Given the description of an element on the screen output the (x, y) to click on. 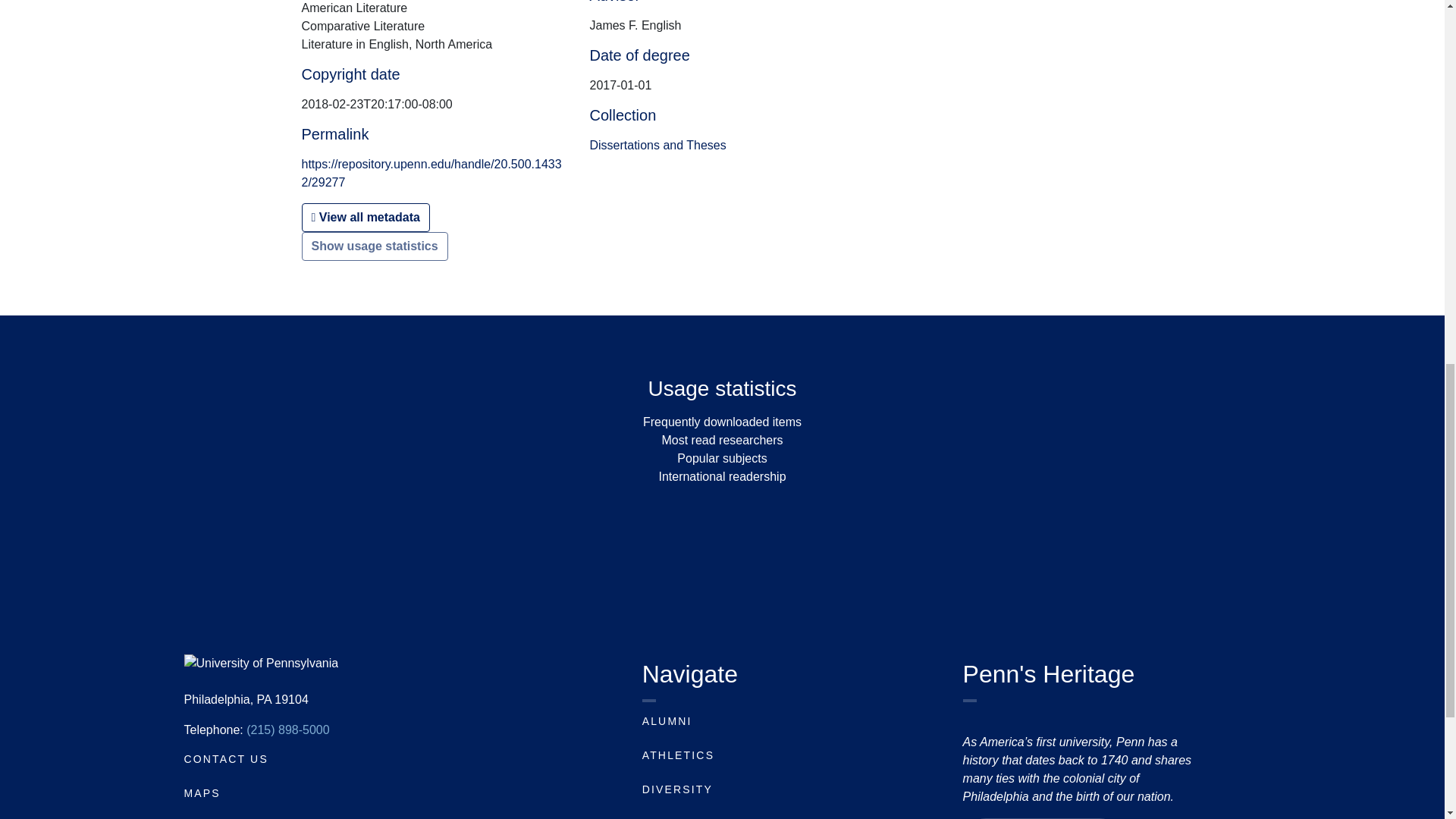
International readership (722, 476)
CONTACT US (225, 758)
ALUMNI (667, 720)
Show usage statistics (374, 246)
DIVERSITY (677, 788)
Frequently downloaded items (722, 421)
International readership (722, 476)
ATHLETICS (678, 755)
MAPS (201, 793)
Most read researchers (722, 440)
Popular subjects (722, 458)
HEALTH CARE (687, 818)
Popular subjects (722, 458)
Frequently downloaded items (722, 421)
